Given the description of an element on the screen output the (x, y) to click on. 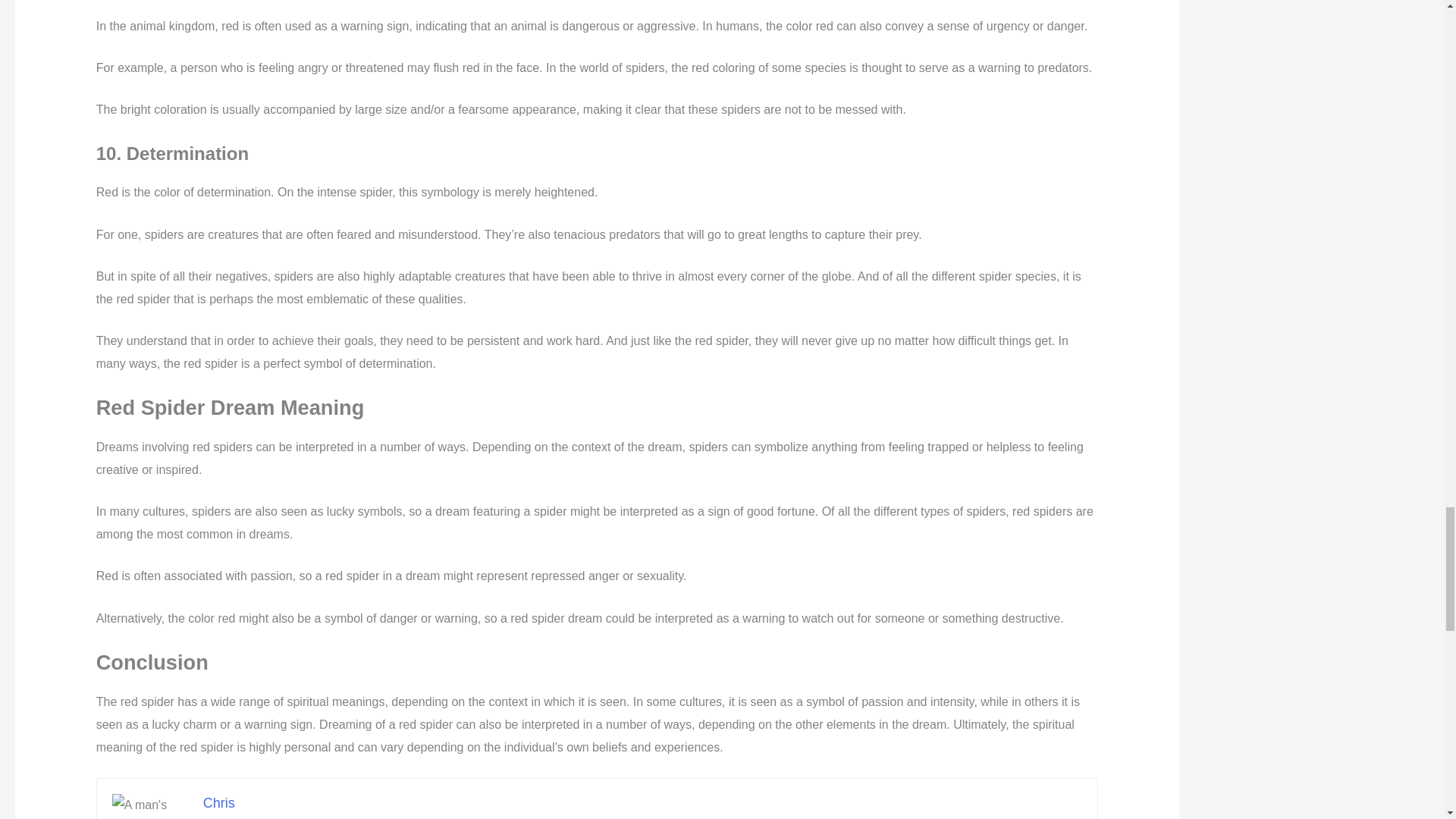
Chris (218, 802)
